Given the description of an element on the screen output the (x, y) to click on. 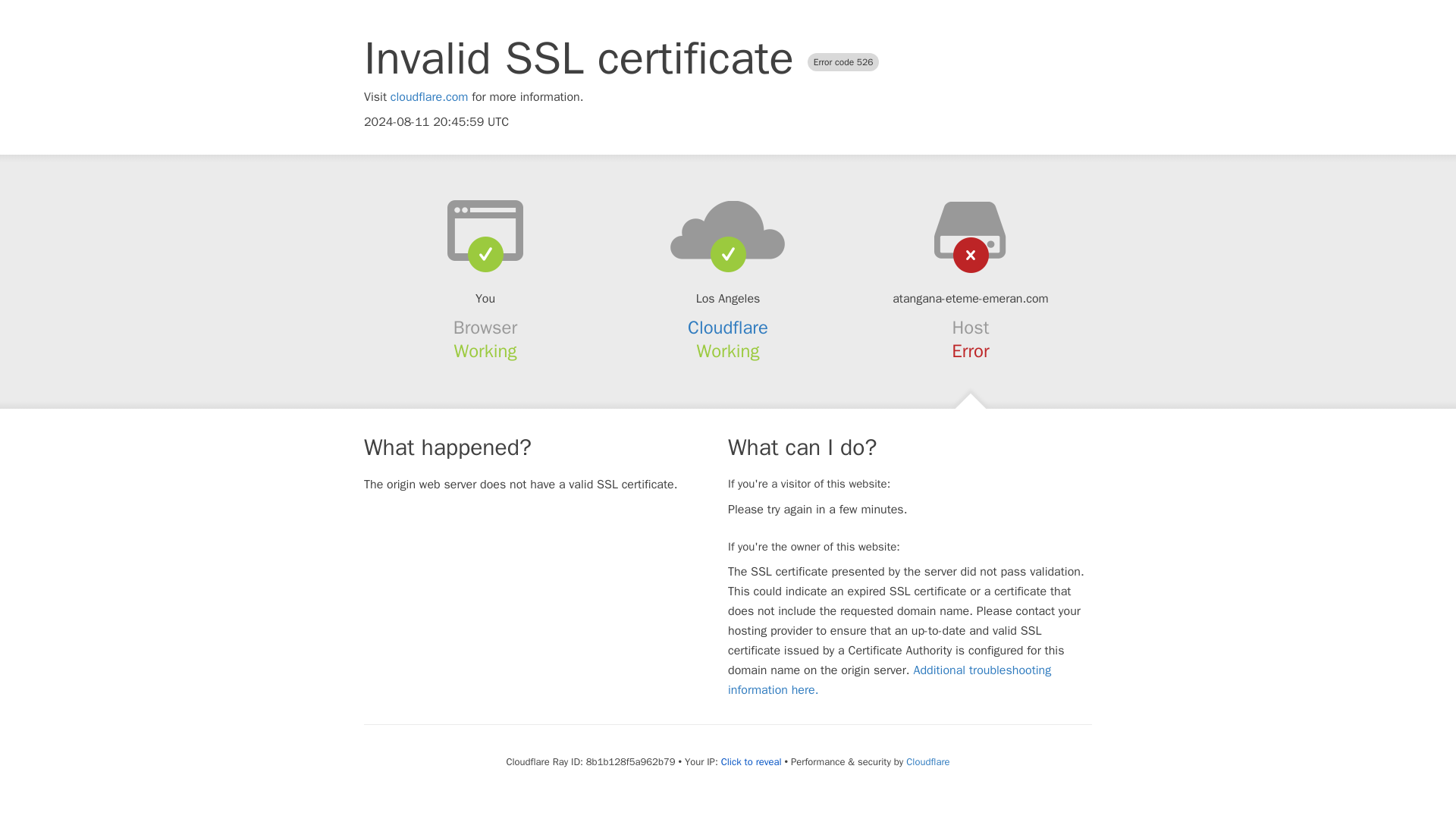
cloudflare.com (429, 96)
Click to reveal (750, 762)
Cloudflare (727, 327)
Additional troubleshooting information here. (889, 679)
Cloudflare (927, 761)
